Given the description of an element on the screen output the (x, y) to click on. 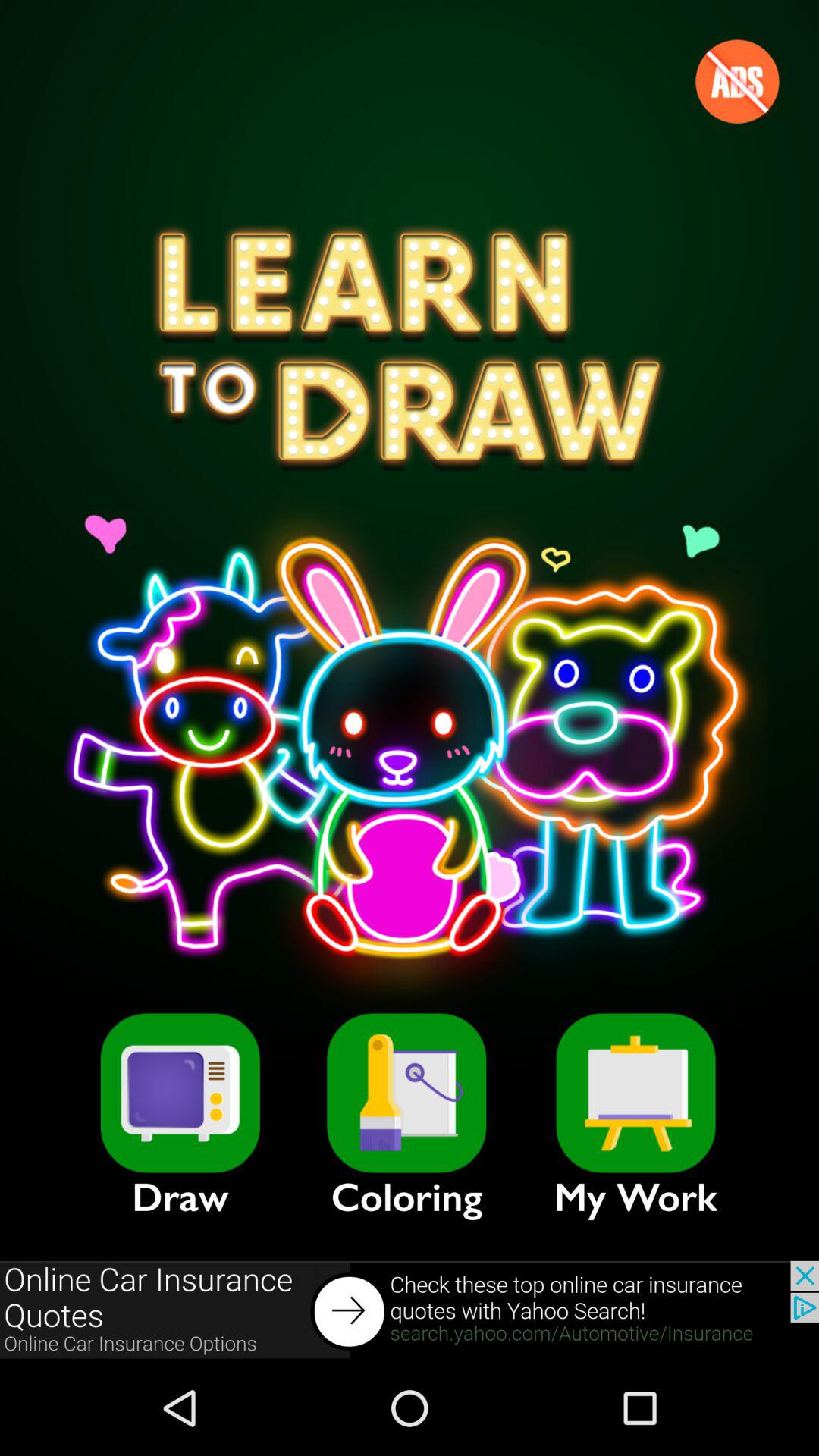
no advertisements (737, 81)
